Given the description of an element on the screen output the (x, y) to click on. 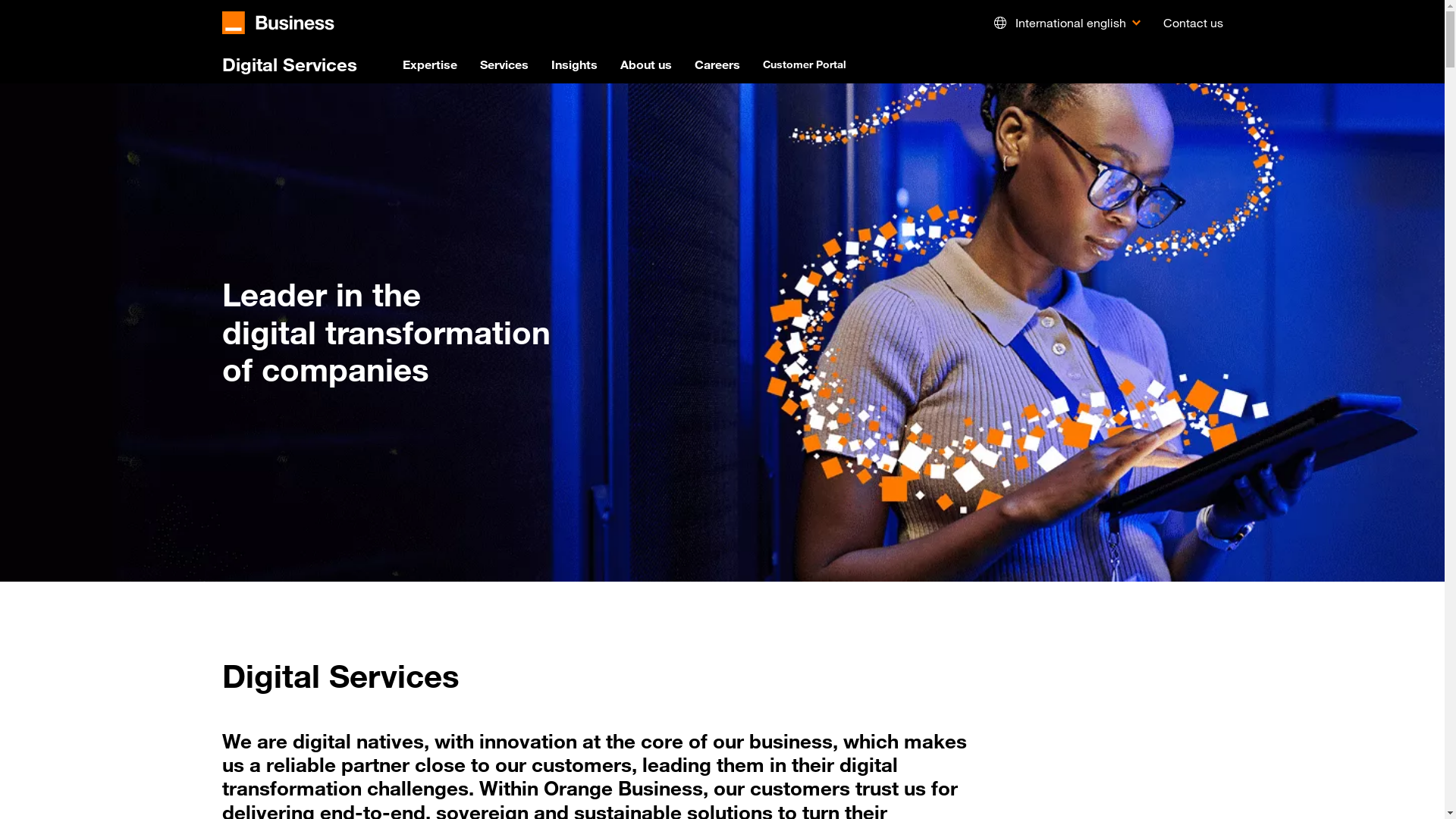
Customer Portal Element type: text (804, 64)
Contact us Element type: text (1193, 22)
About us Element type: text (645, 64)
International english Element type: text (1064, 22)
Careers Element type: text (717, 64)
Services Element type: text (503, 64)
Home Element type: hover (277, 22)
